Given the description of an element on the screen output the (x, y) to click on. 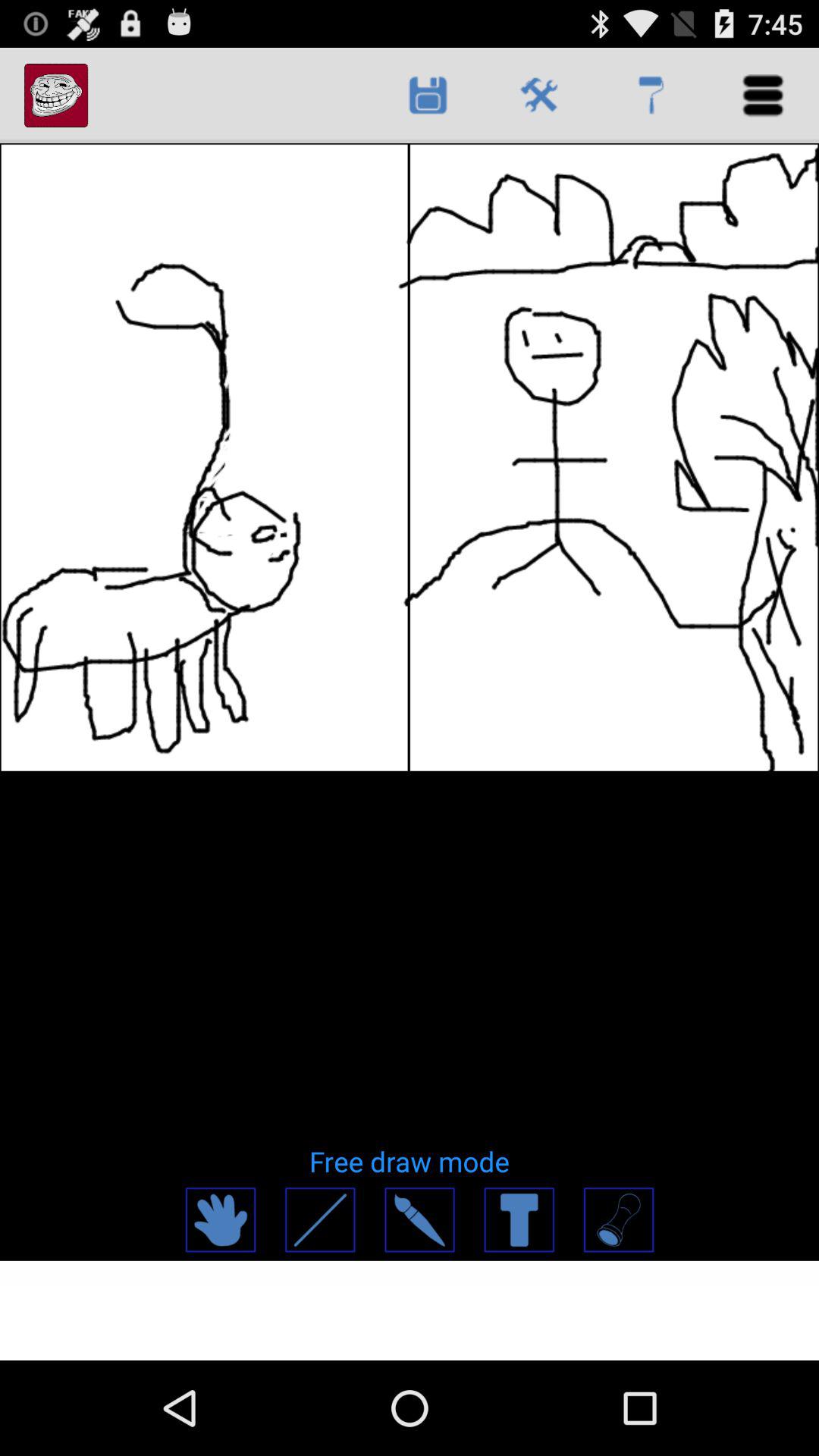
move drawing (219, 1219)
